Given the description of an element on the screen output the (x, y) to click on. 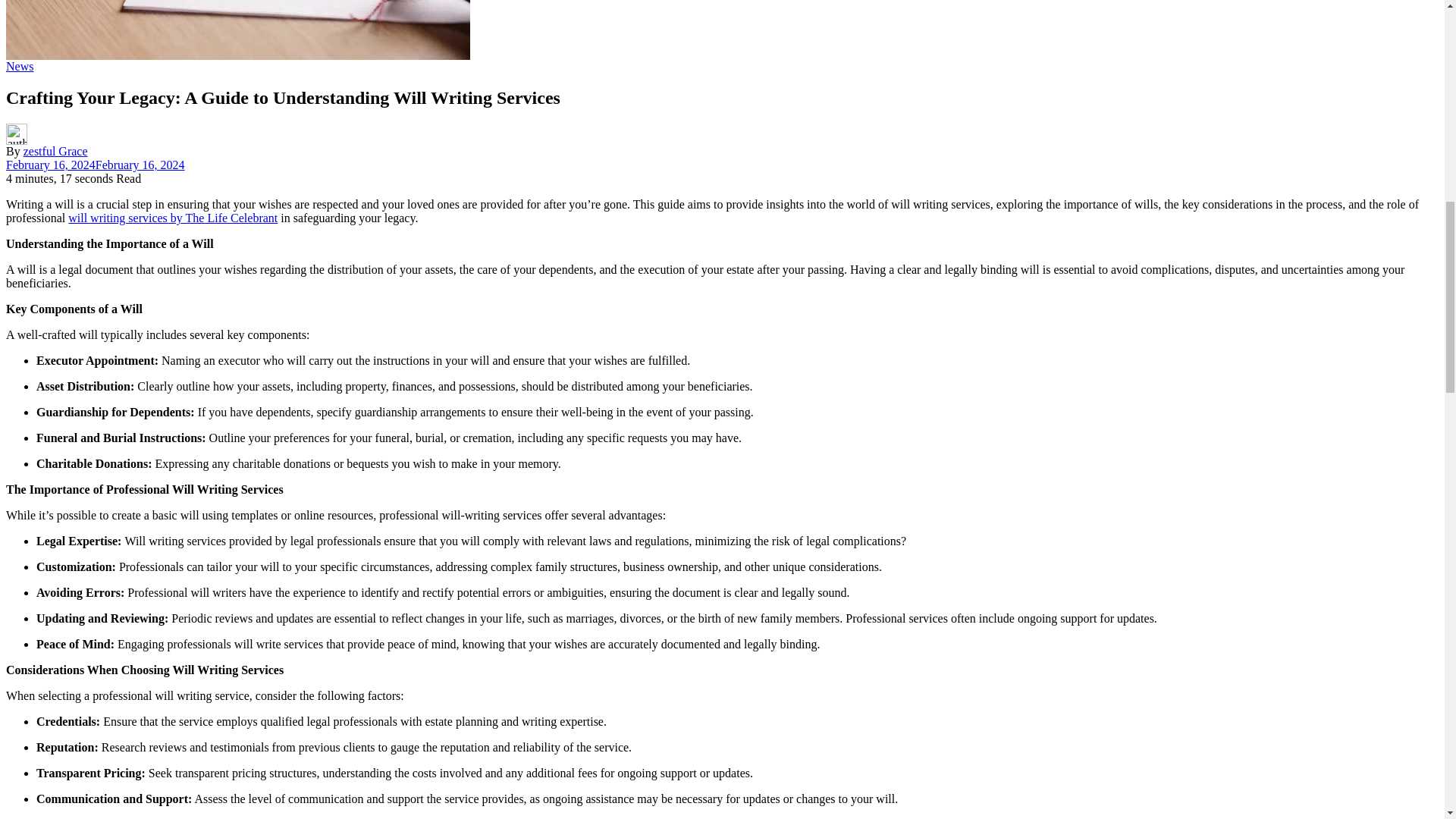
February 16, 2024February 16, 2024 (94, 164)
will writing services by The Life Celebrant (173, 217)
News (19, 65)
zestful Grace (55, 151)
